Given the description of an element on the screen output the (x, y) to click on. 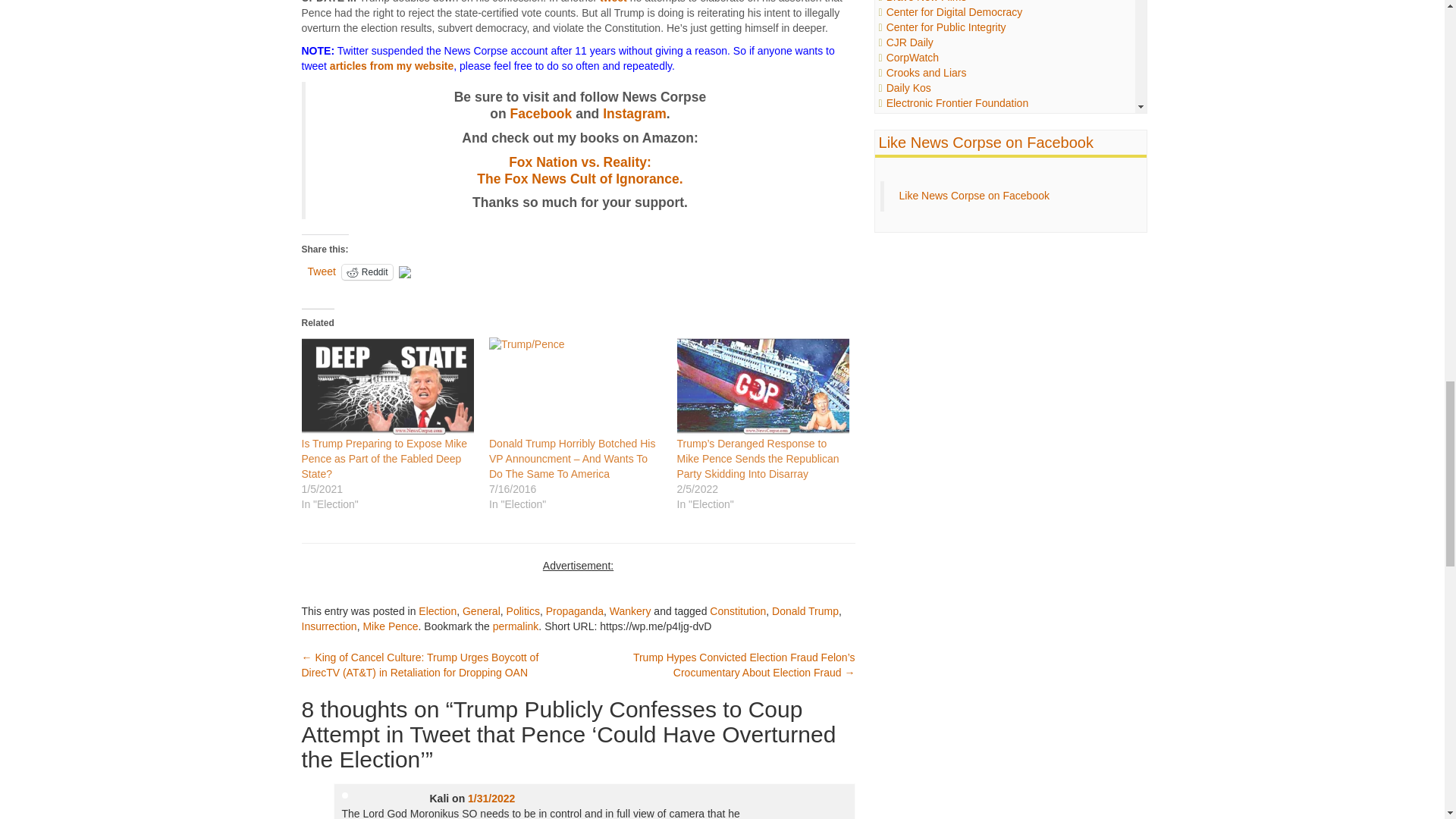
tweet (613, 2)
Click to share on Reddit (367, 272)
